Given the description of an element on the screen output the (x, y) to click on. 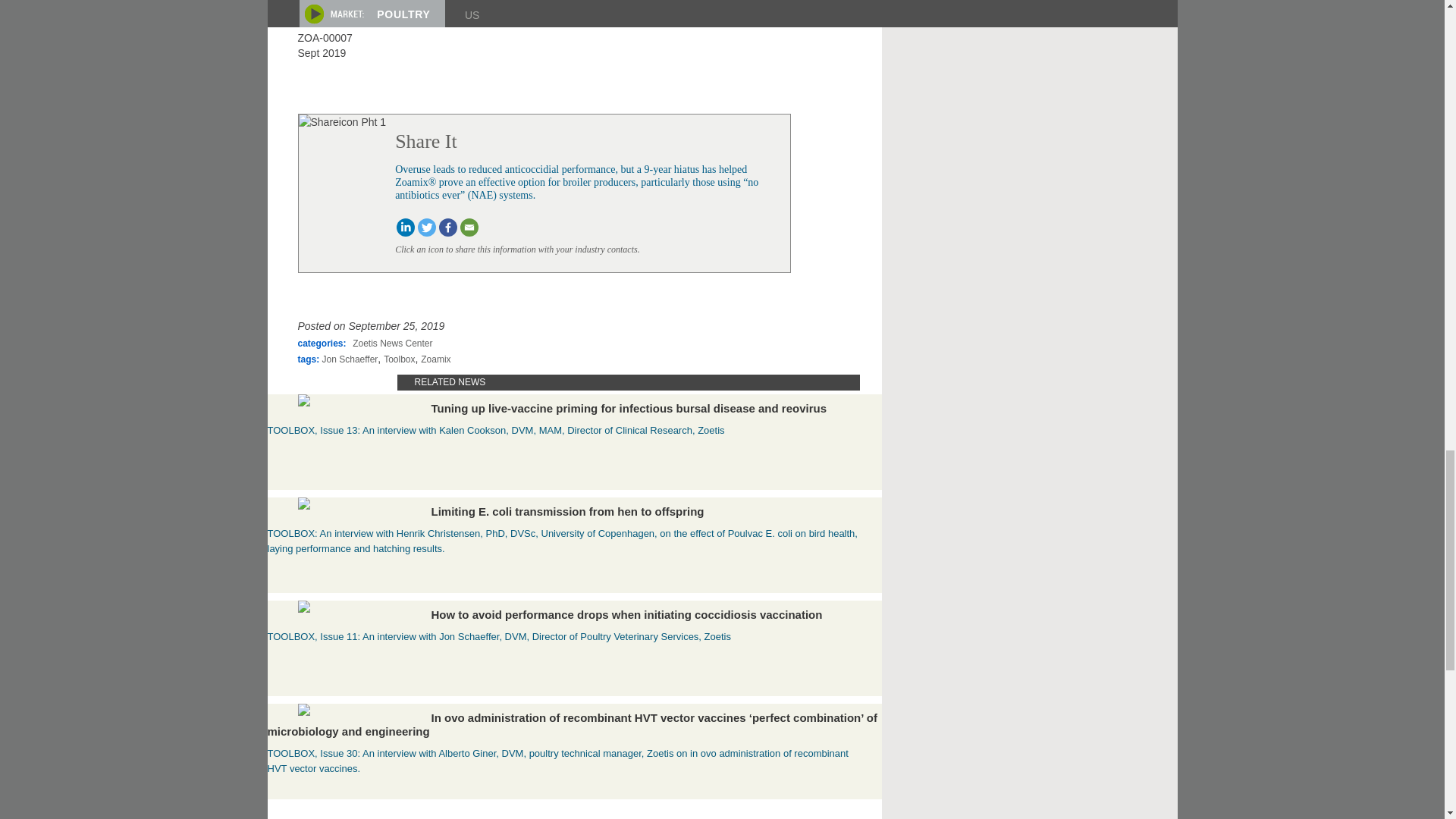
Linkedin (405, 227)
Email (469, 227)
Limiting E. coli transmission from hen to offspring (348, 504)
Twitter (426, 227)
Facebook (448, 227)
